Given the description of an element on the screen output the (x, y) to click on. 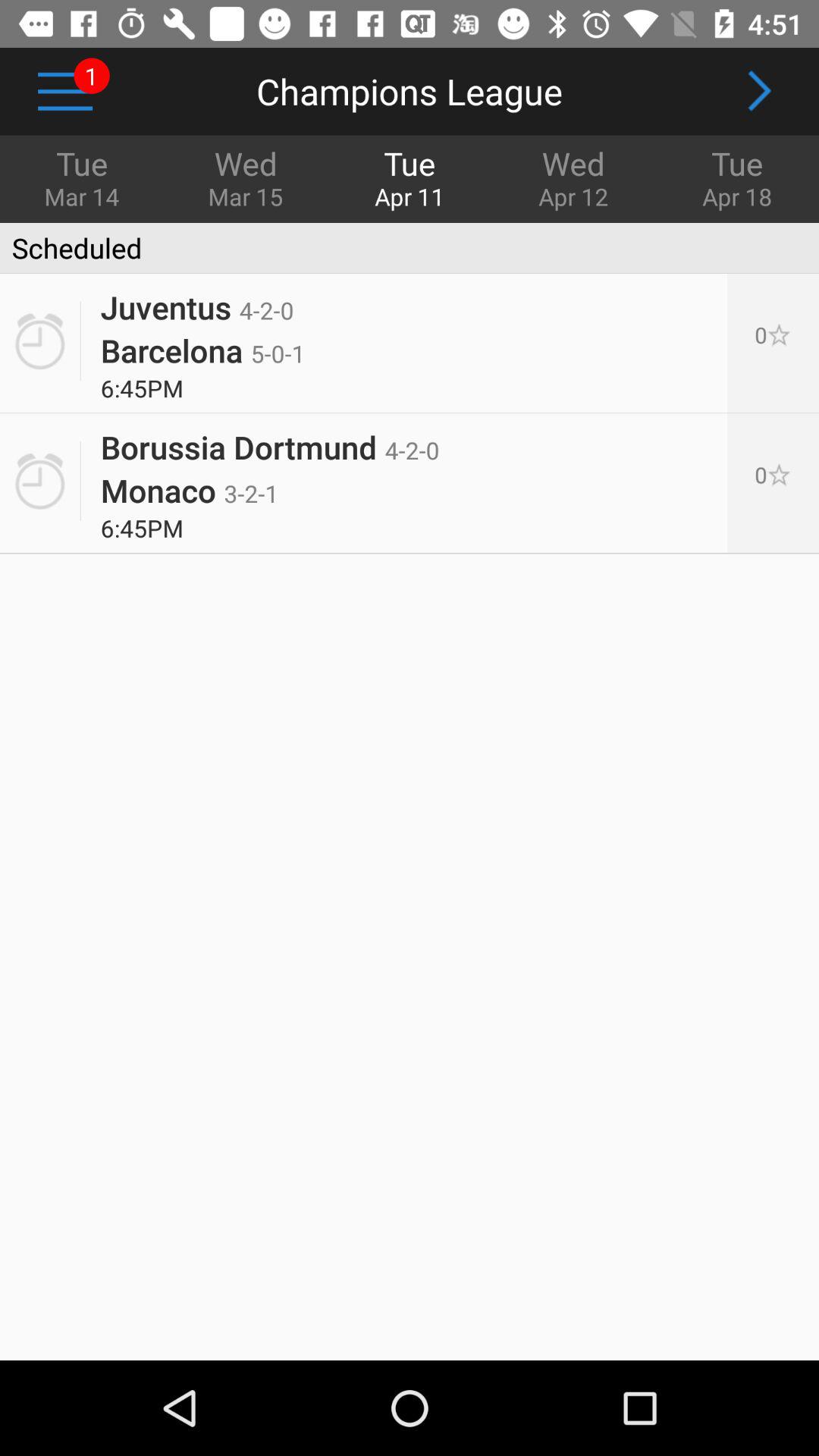
choose the icon next to 0[p] icon (202, 349)
